Given the description of an element on the screen output the (x, y) to click on. 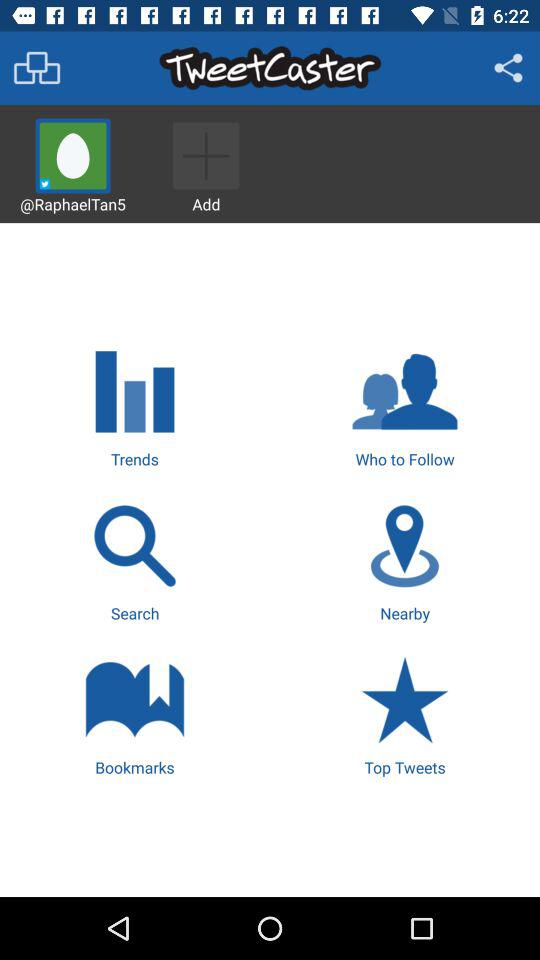
press the trends item (134, 405)
